Given the description of an element on the screen output the (x, y) to click on. 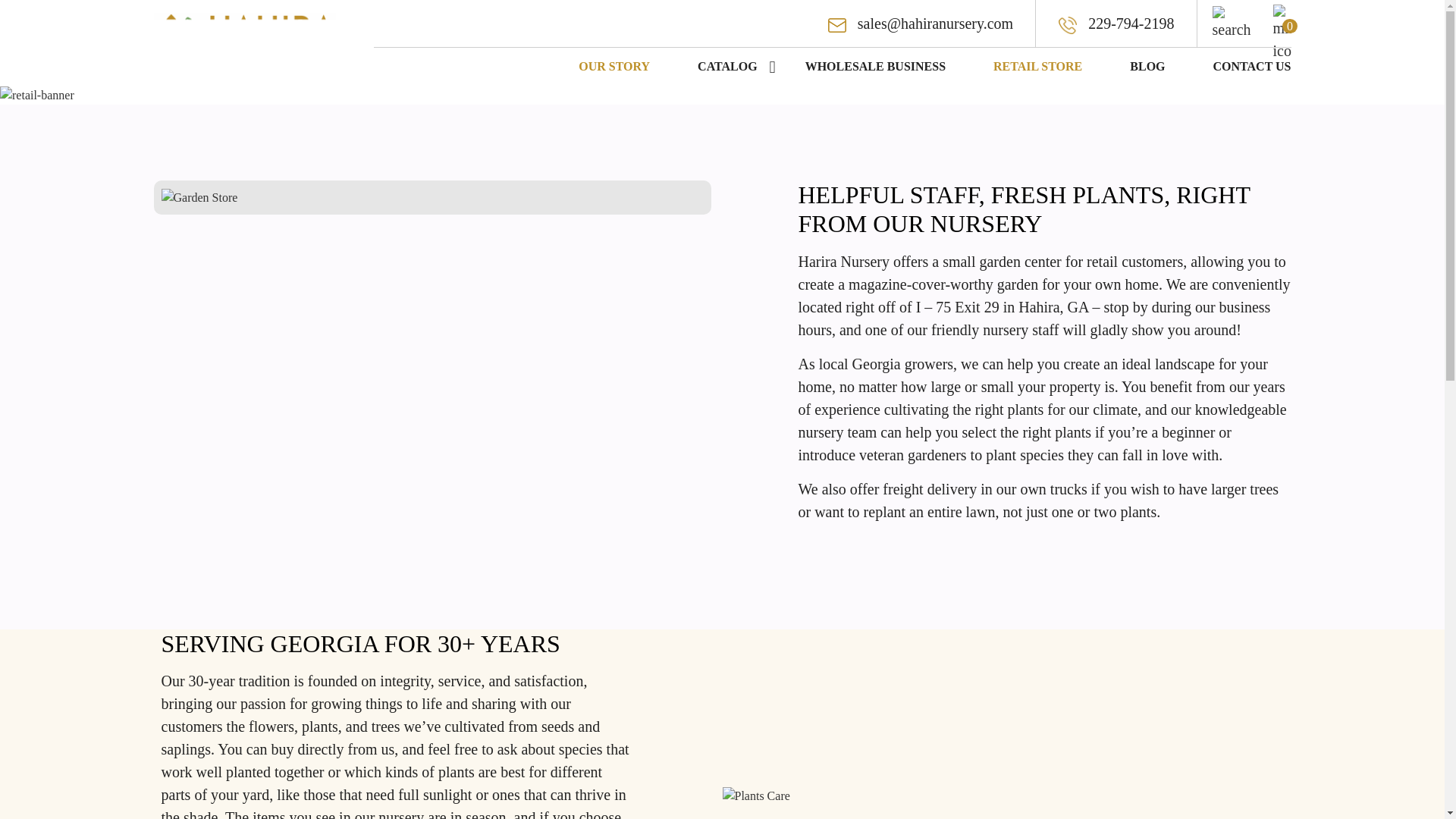
RETAIL STORE (1037, 66)
CONTACT US (1243, 66)
BLOG (1147, 66)
CATALOG (727, 66)
0 (1281, 13)
WHOLESALE BUSINESS (875, 66)
229-794-2198 (1115, 23)
OUR STORY (614, 66)
